Given the description of an element on the screen output the (x, y) to click on. 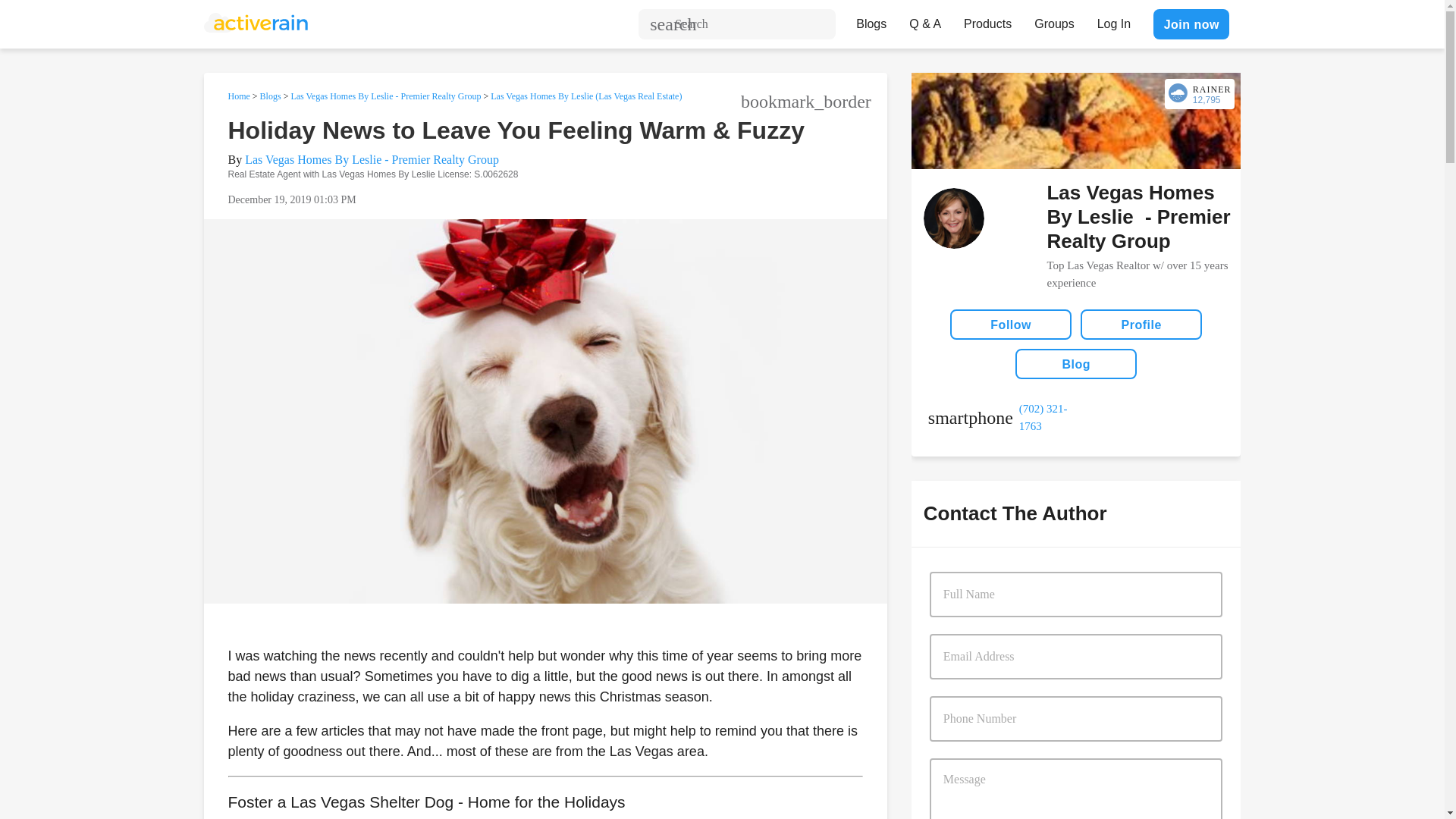
Products (986, 19)
Las Vegas Homes By Leslie - Premier Realty Group (371, 159)
Groups (1053, 19)
Blogs (870, 19)
Home (237, 95)
cell (1001, 417)
Blogs (270, 95)
Join now (1190, 24)
Las Vegas Homes By Leslie - Premier Realty Group (384, 95)
Log In (1113, 19)
